Given the description of an element on the screen output the (x, y) to click on. 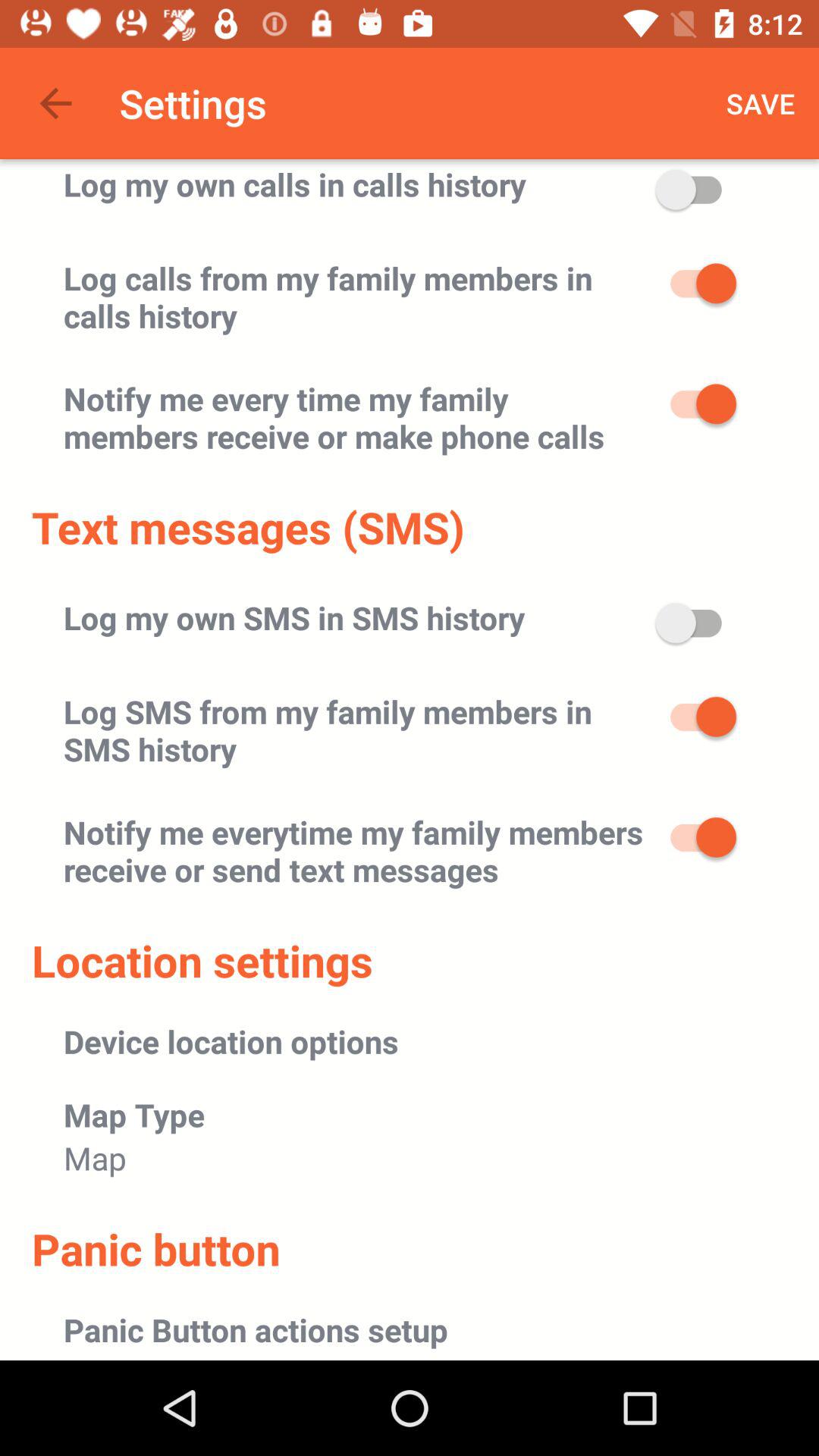
choose the save item (760, 103)
